Given the description of an element on the screen output the (x, y) to click on. 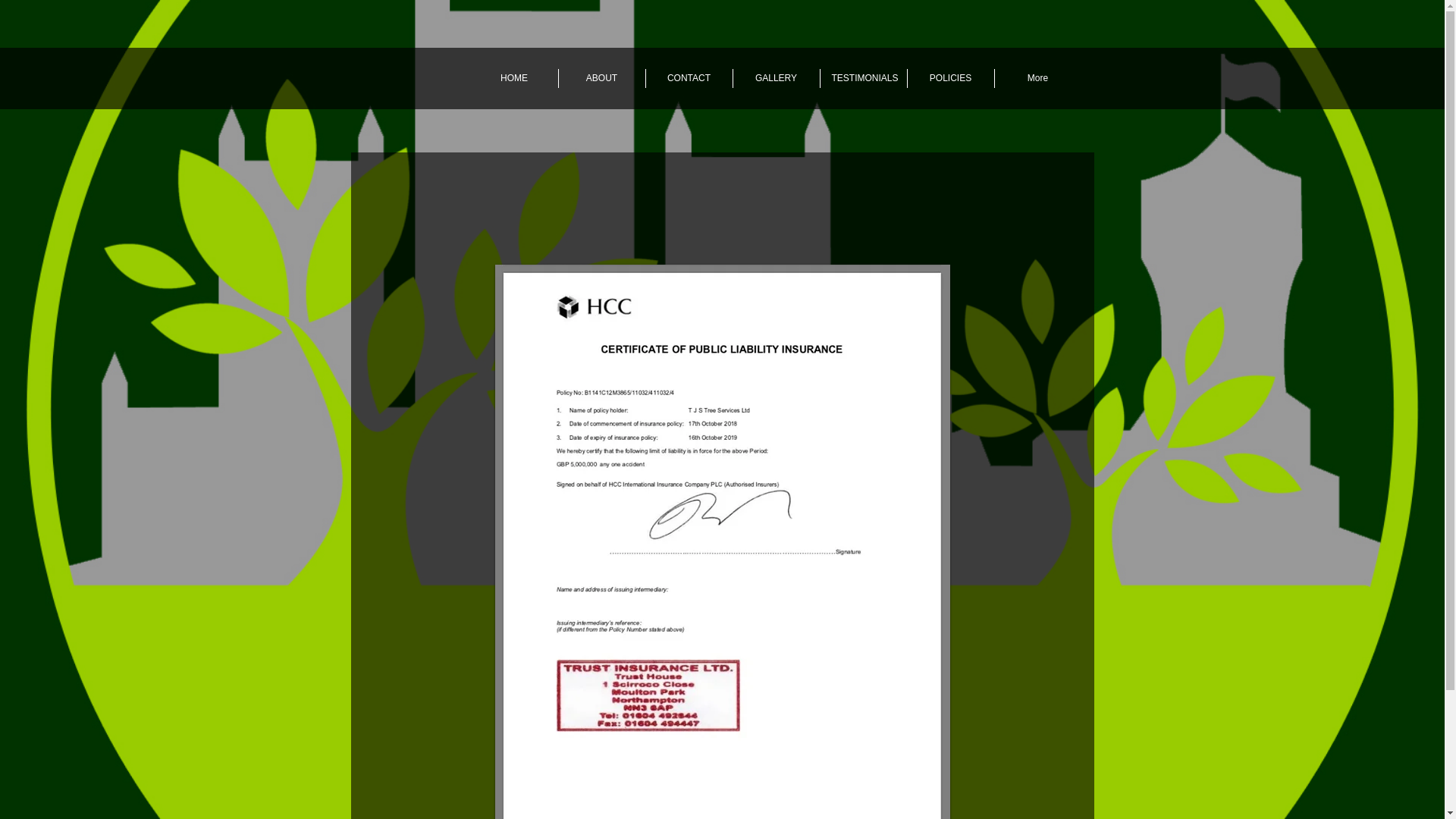
HOME (513, 77)
ABOUT (601, 77)
TESTIMONIALS (864, 77)
CONTACT (689, 77)
GALLERY (775, 77)
POLICIES (949, 77)
